Given the description of an element on the screen output the (x, y) to click on. 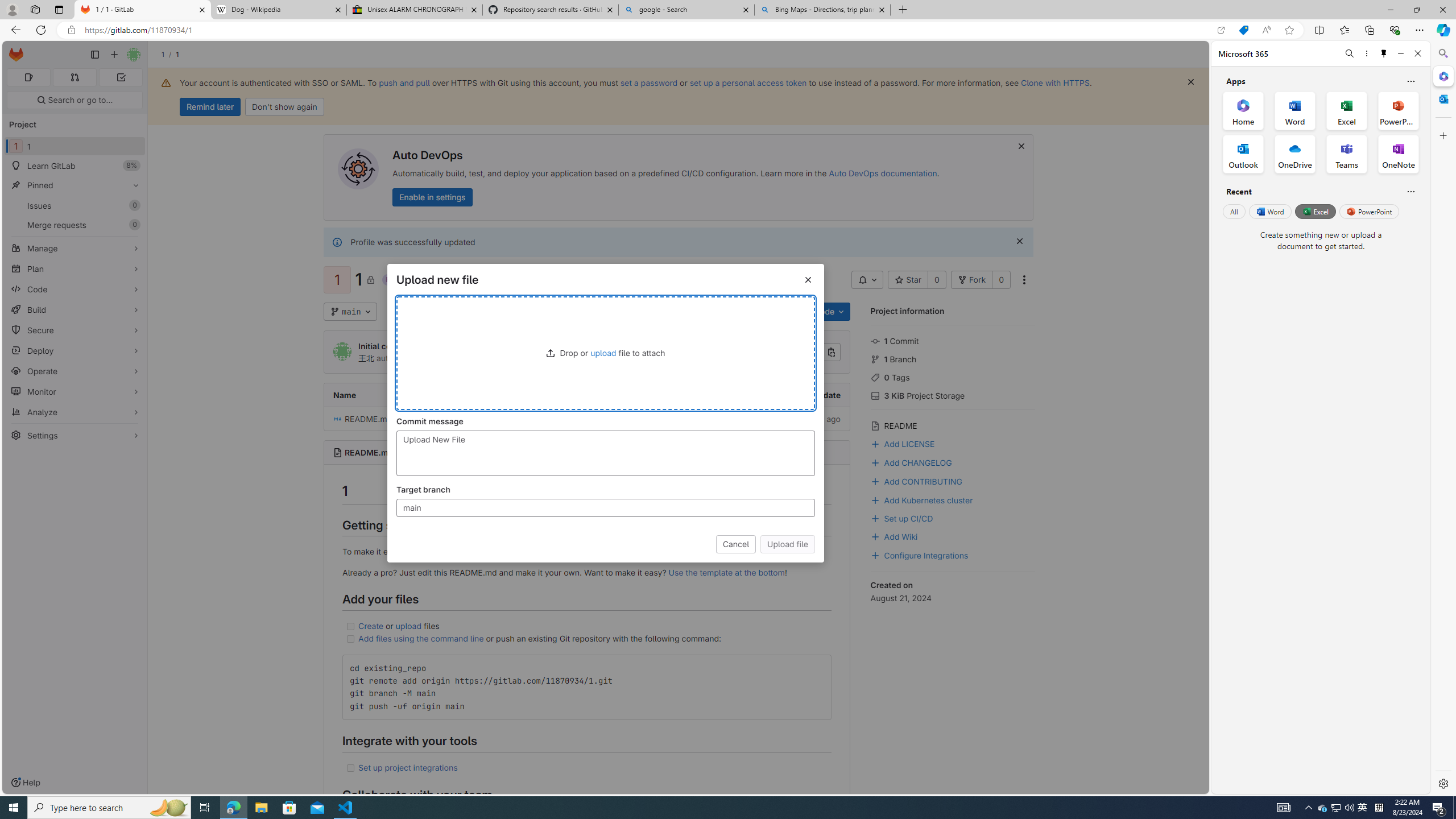
3 KiB Project Storage (952, 394)
AutomationID: __BVID__785 (605, 452)
Class: s16 position-relative file-icon (337, 419)
Merge requests 0 (74, 224)
Issues 0 (74, 205)
1 1 (74, 145)
Create new... (113, 54)
Add LICENSE (903, 442)
Class: s16 gl-text-blue-500! gl-mr-3 (874, 481)
